Given the description of an element on the screen output the (x, y) to click on. 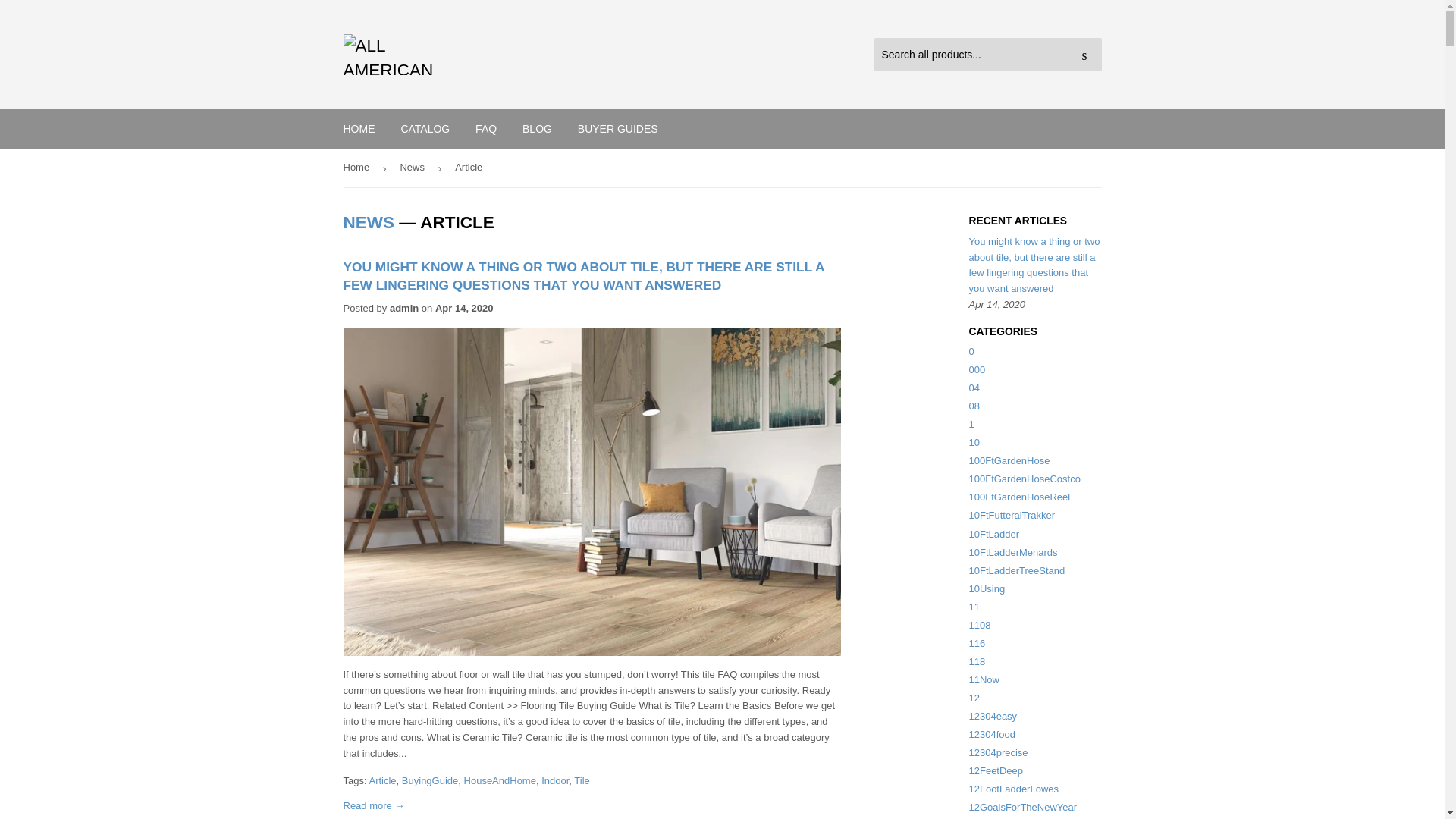
000 (977, 369)
100FtGardenHoseReel (1019, 496)
100FtGardenHoseCostco (1024, 478)
Show articles tagged 08 (974, 405)
Show articles tagged 10FtLadderTreeStand (1017, 570)
Search (1084, 55)
100FtGardenHose (1009, 460)
Show articles tagged 04 (974, 387)
10FtLadder (994, 533)
BuyingGuide (429, 780)
Show articles tagged 100FtGardenHose (1009, 460)
Show articles tagged 100FtGardenHoseCostco (1024, 478)
Tile (581, 780)
Show articles tagged 100FtGardenHoseReel (1019, 496)
BUYER GUIDES (617, 128)
